Given the description of an element on the screen output the (x, y) to click on. 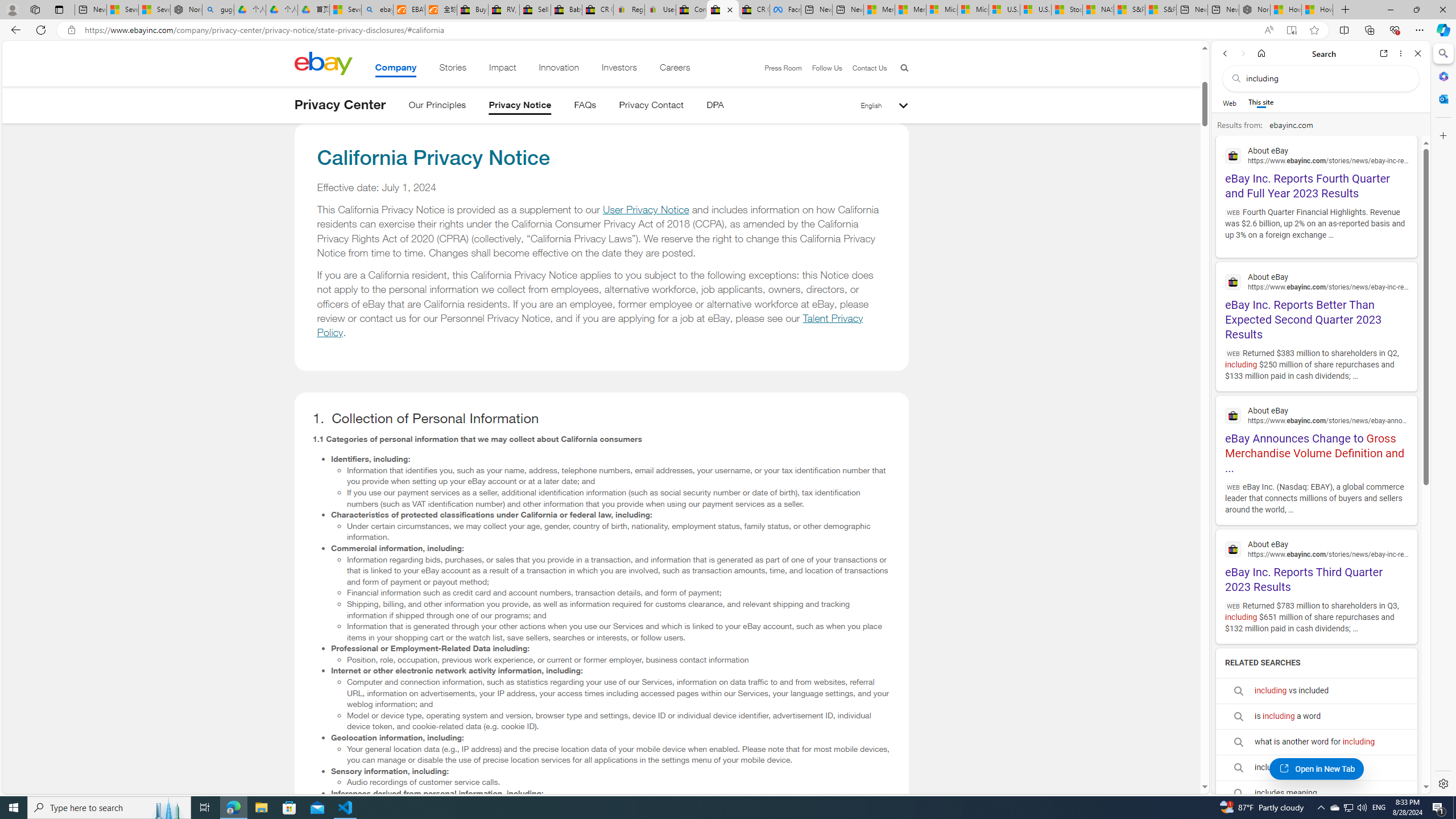
what is another word for including (1315, 741)
Audio recordings of customer service calls. (618, 781)
Register: Create a personal eBay account (628, 9)
